Given the description of an element on the screen output the (x, y) to click on. 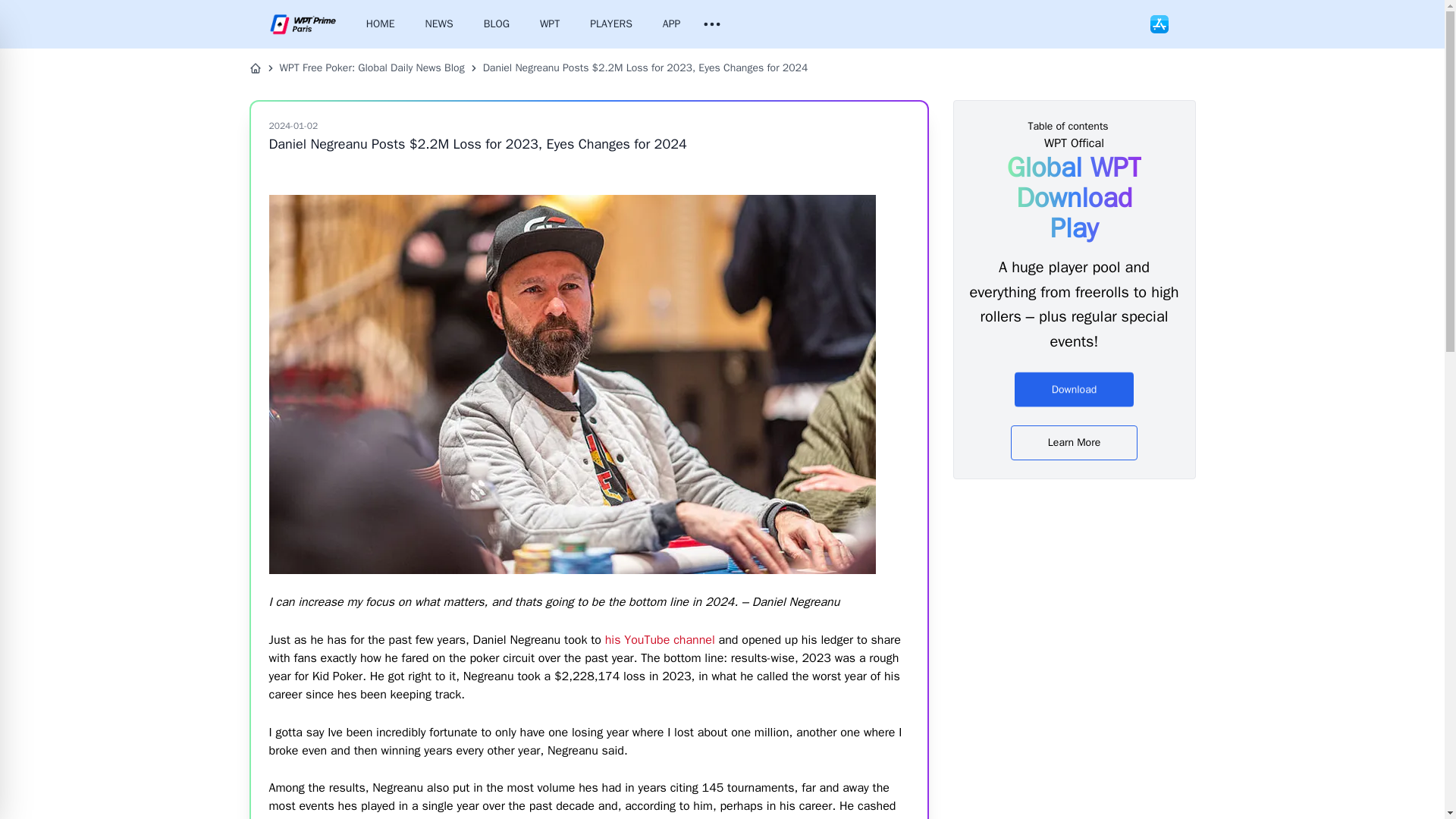
NEWS (439, 23)
WPT Free Poker: Global Daily News Blog (371, 68)
Download (1074, 387)
his YouTube channel (659, 639)
WPT (550, 23)
APP (671, 23)
BLOG (496, 23)
Learn More (1073, 442)
HOME (380, 23)
PLAYERS (611, 23)
